Given the description of an element on the screen output the (x, y) to click on. 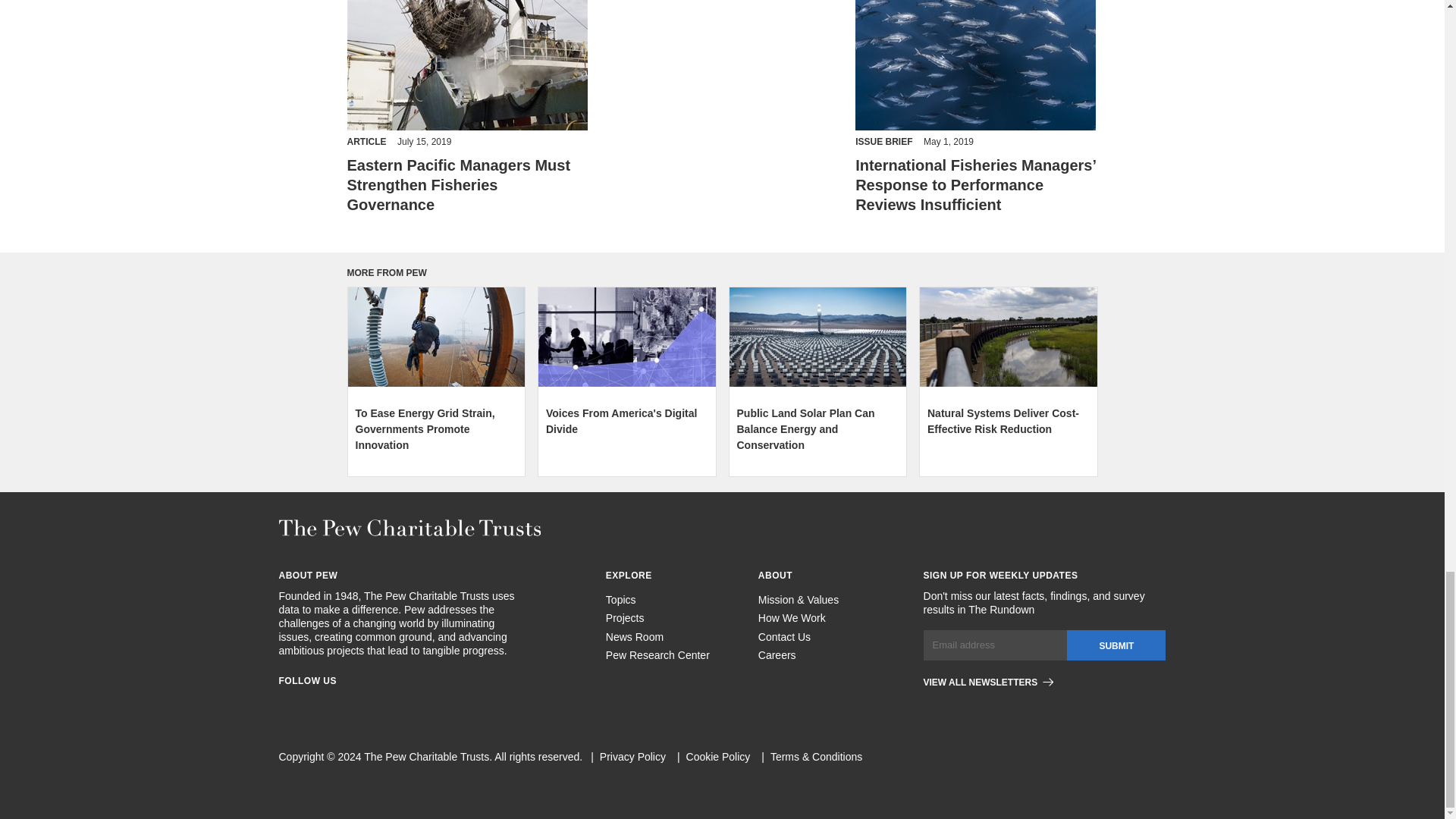
LinkedIn (340, 704)
Follow us on twitter  (367, 704)
RFMO (976, 65)
Instagram (312, 704)
Solar panels in a desert in front of a mountain (818, 336)
Facebook (285, 704)
Tuna (467, 65)
